Given the description of an element on the screen output the (x, y) to click on. 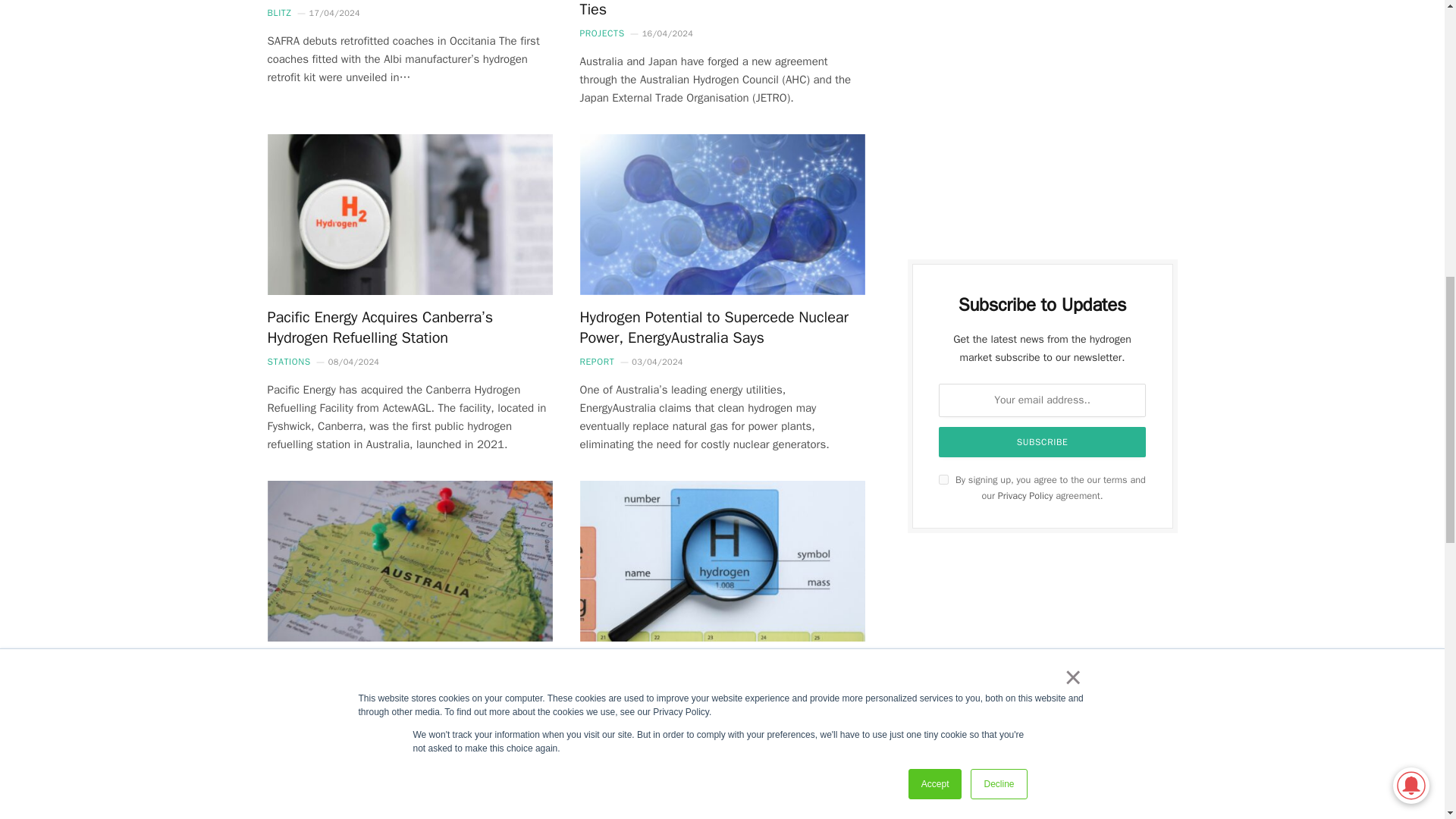
Subscribe (1043, 441)
on (944, 479)
